Given the description of an element on the screen output the (x, y) to click on. 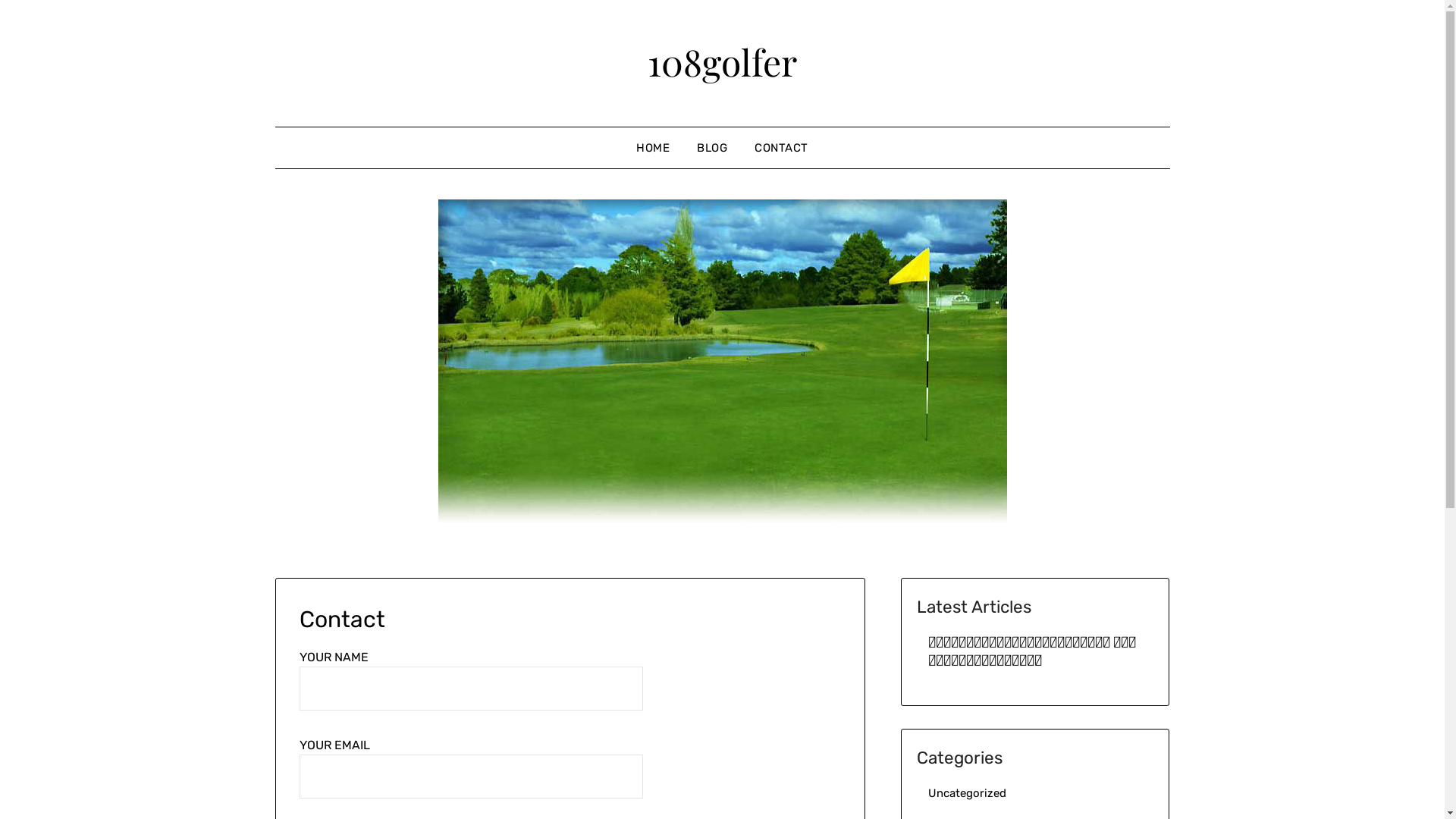
Uncategorized Element type: text (967, 792)
CONTACT Element type: text (781, 147)
BLOG Element type: text (711, 147)
HOME Element type: text (652, 147)
108golfer Element type: text (722, 61)
